Given the description of an element on the screen output the (x, y) to click on. 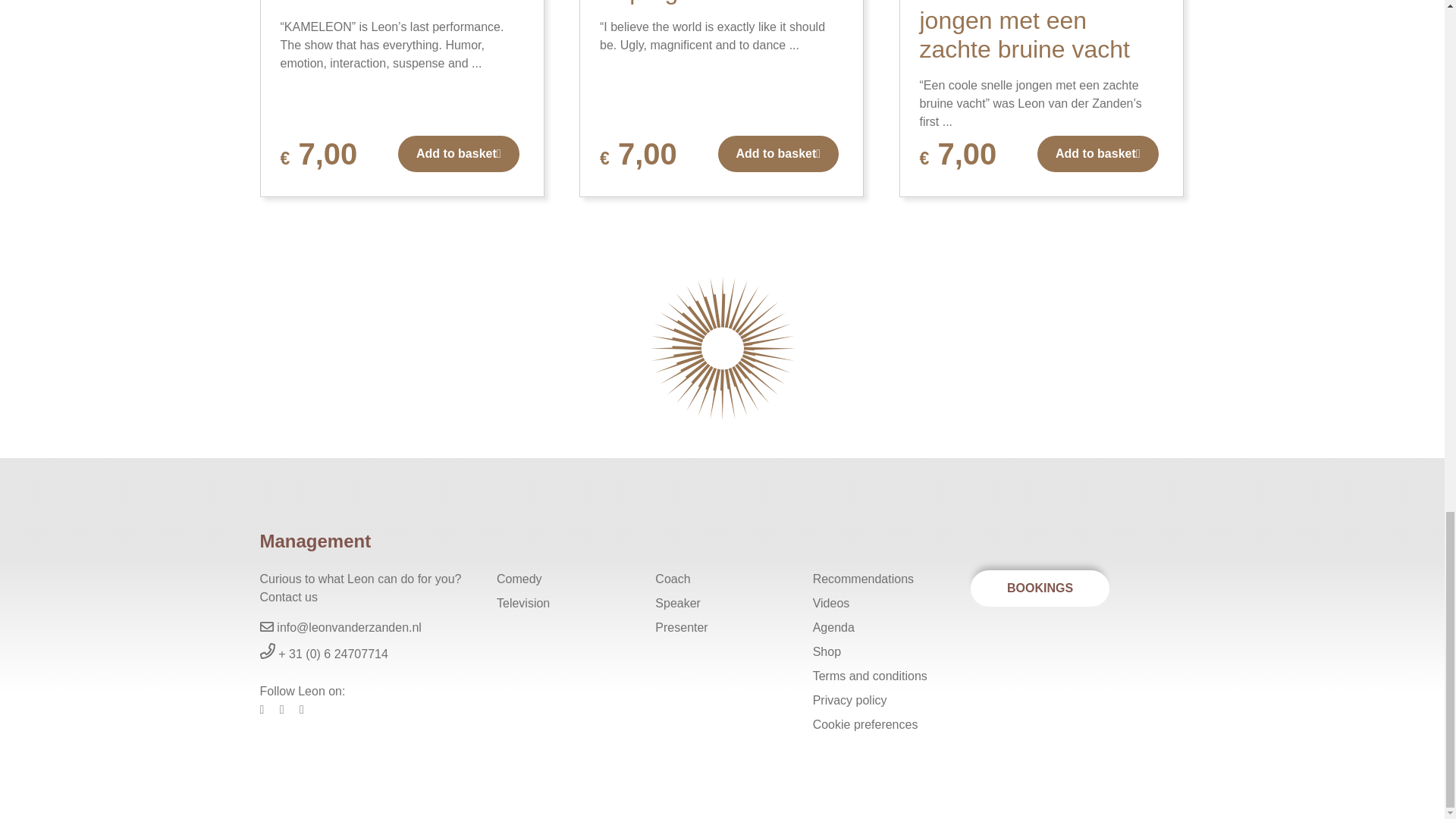
Add to basket (458, 153)
Instagram (307, 708)
Presenter (722, 628)
Speaker (722, 603)
Facebook (267, 708)
Coach (722, 579)
Comedy (563, 579)
LinkedIn (288, 708)
Add to basket (1097, 153)
Television (563, 603)
